Given the description of an element on the screen output the (x, y) to click on. 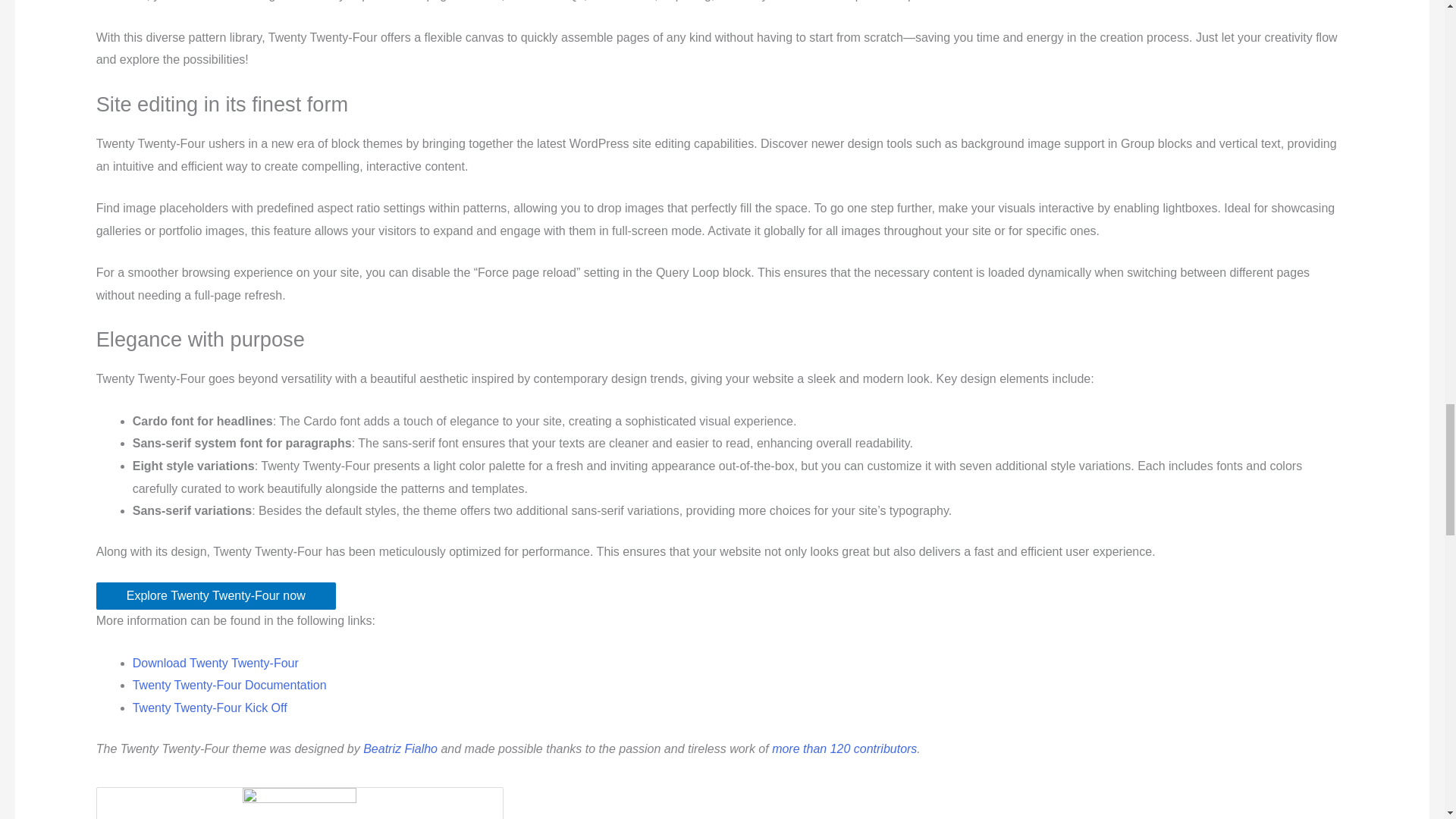
Beatriz Fialho (400, 748)
Twenty Twenty-Four Documentation (229, 684)
more than 120 contributors (844, 748)
Download Twenty Twenty-Four (215, 662)
Explore Twenty Twenty-Four now (216, 595)
Twenty Twenty-Four Kick Off (209, 707)
